Given the description of an element on the screen output the (x, y) to click on. 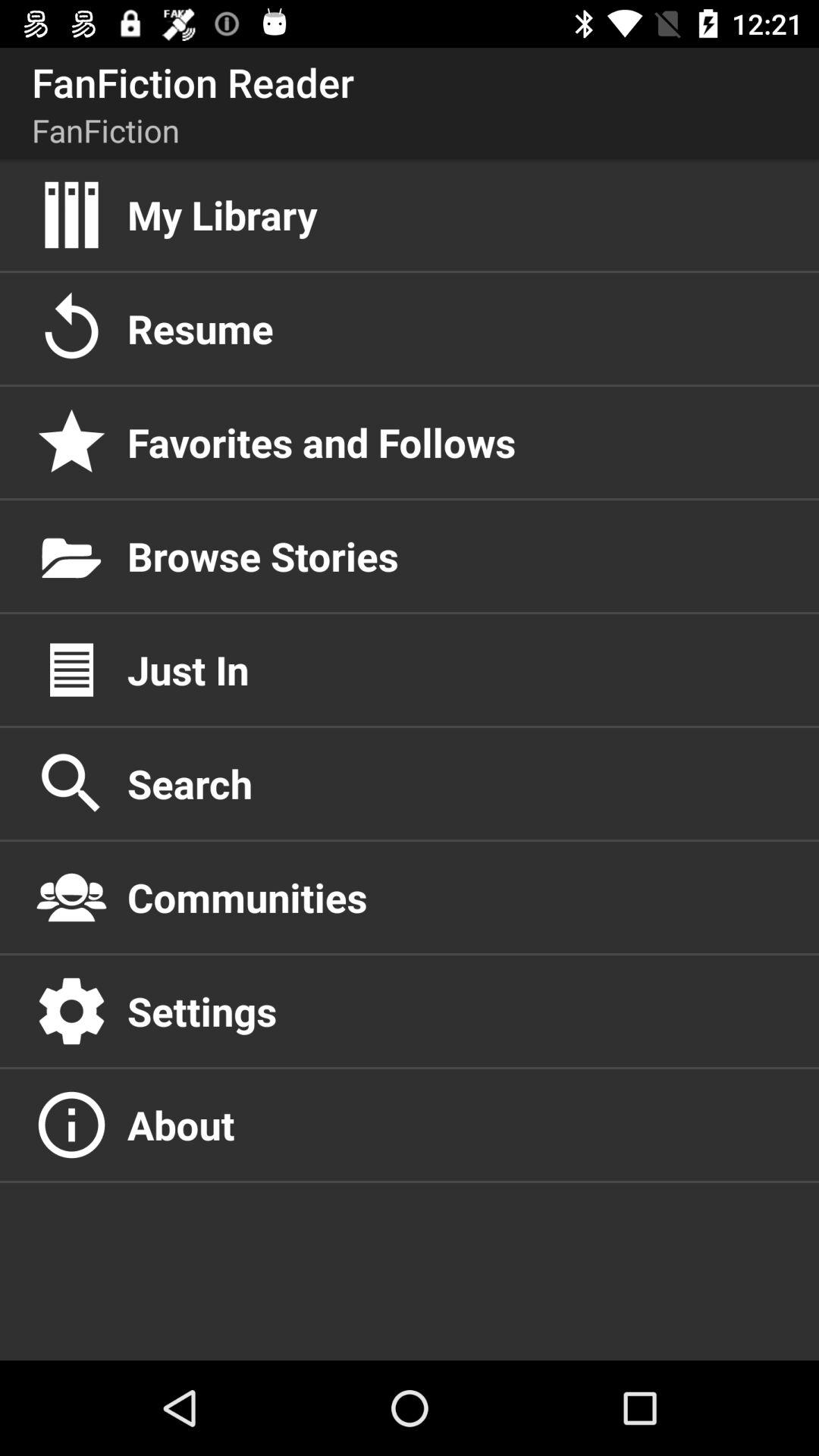
select the communities icon (457, 897)
